Given the description of an element on the screen output the (x, y) to click on. 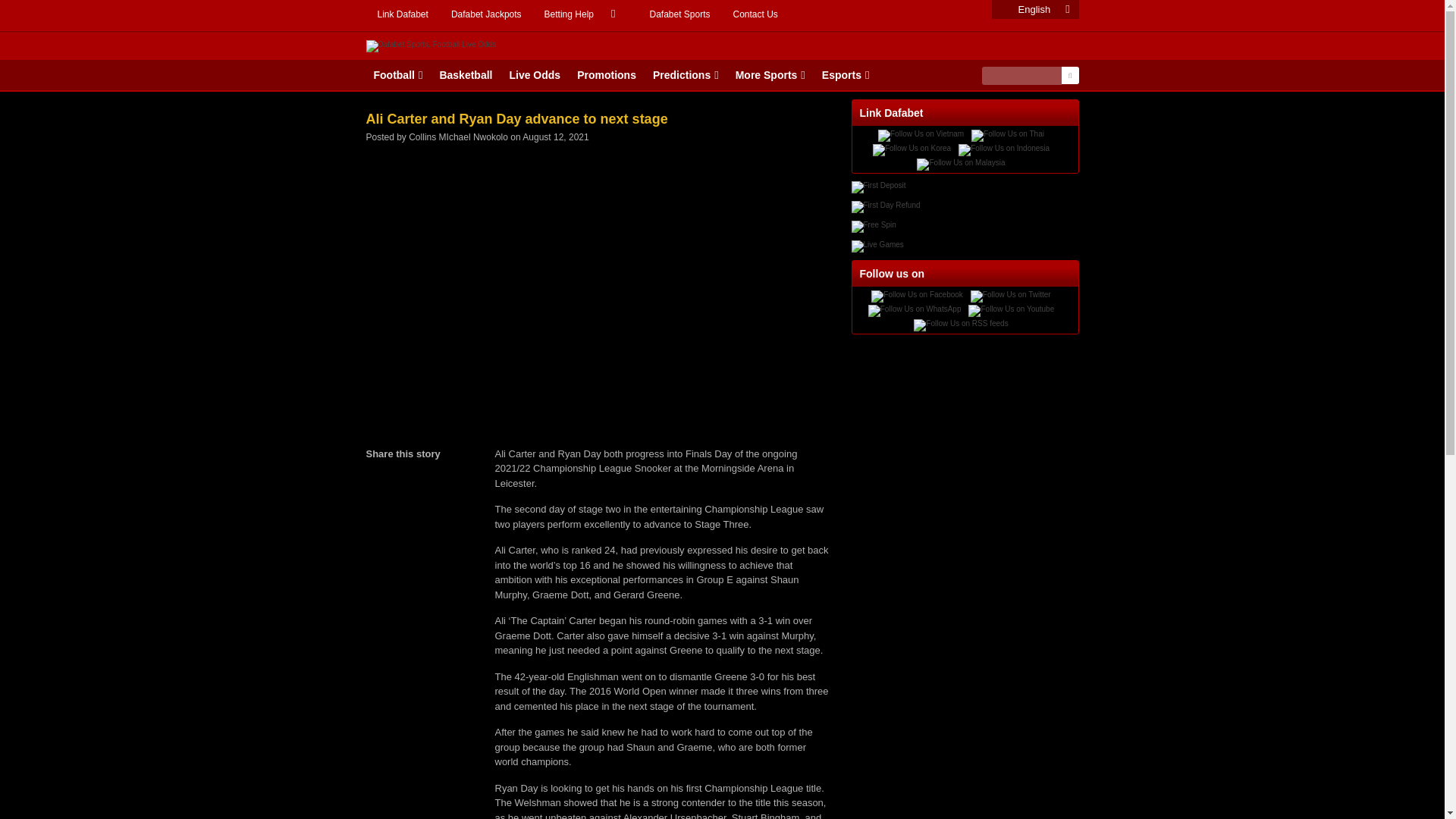
Follow Us on Thai (1007, 135)
Follow Us on Malaysia (960, 164)
Follow Us on Twitter (1011, 296)
Follow Us on Vietnam (920, 135)
Betting Help (585, 14)
Follow Us on Facebook (916, 296)
Dafabet Sports (679, 14)
Follow Us on Indonesia (1003, 150)
Follow Us on WhatsApp (913, 310)
Follow Us on Korea (911, 150)
